Given the description of an element on the screen output the (x, y) to click on. 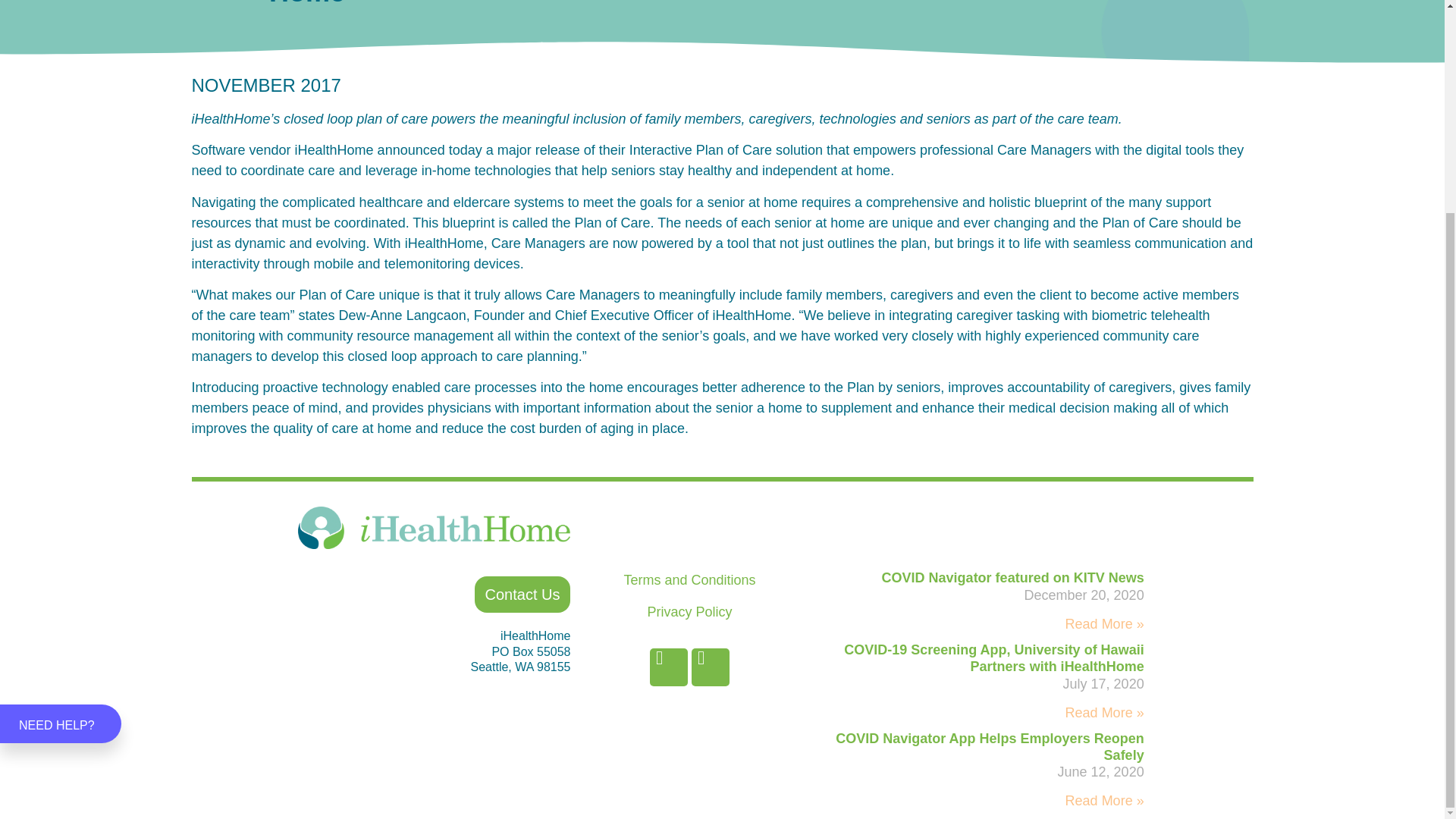
COVID Navigator featured on KITV News (1013, 577)
Privacy Policy (689, 611)
Terms and Conditions (689, 580)
Contact Us (522, 594)
NEED HELP? (60, 445)
COVID Navigator App Helps Employers Reopen Safely (988, 746)
